Given the description of an element on the screen output the (x, y) to click on. 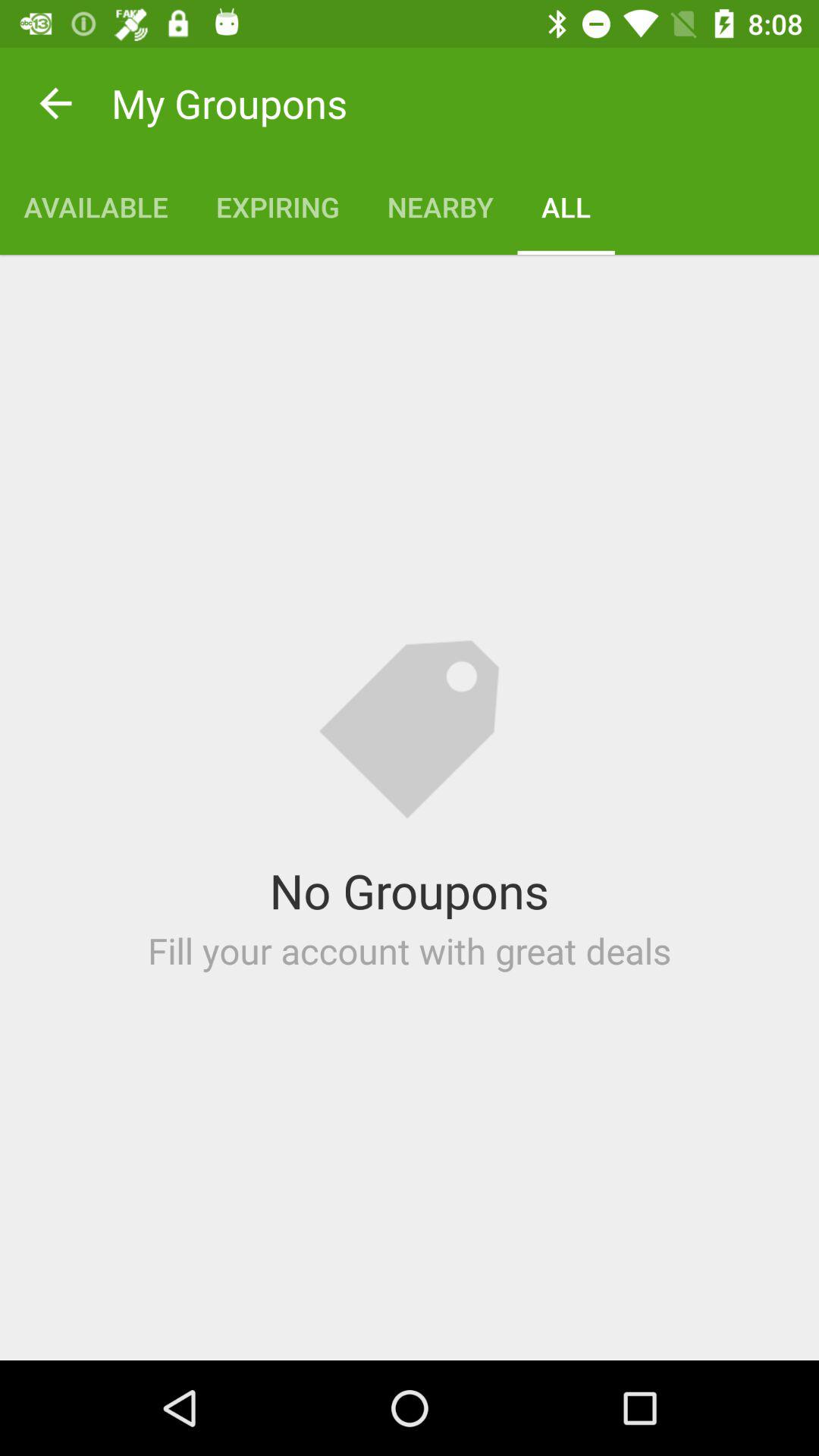
scroll to the expiring icon (277, 206)
